Given the description of an element on the screen output the (x, y) to click on. 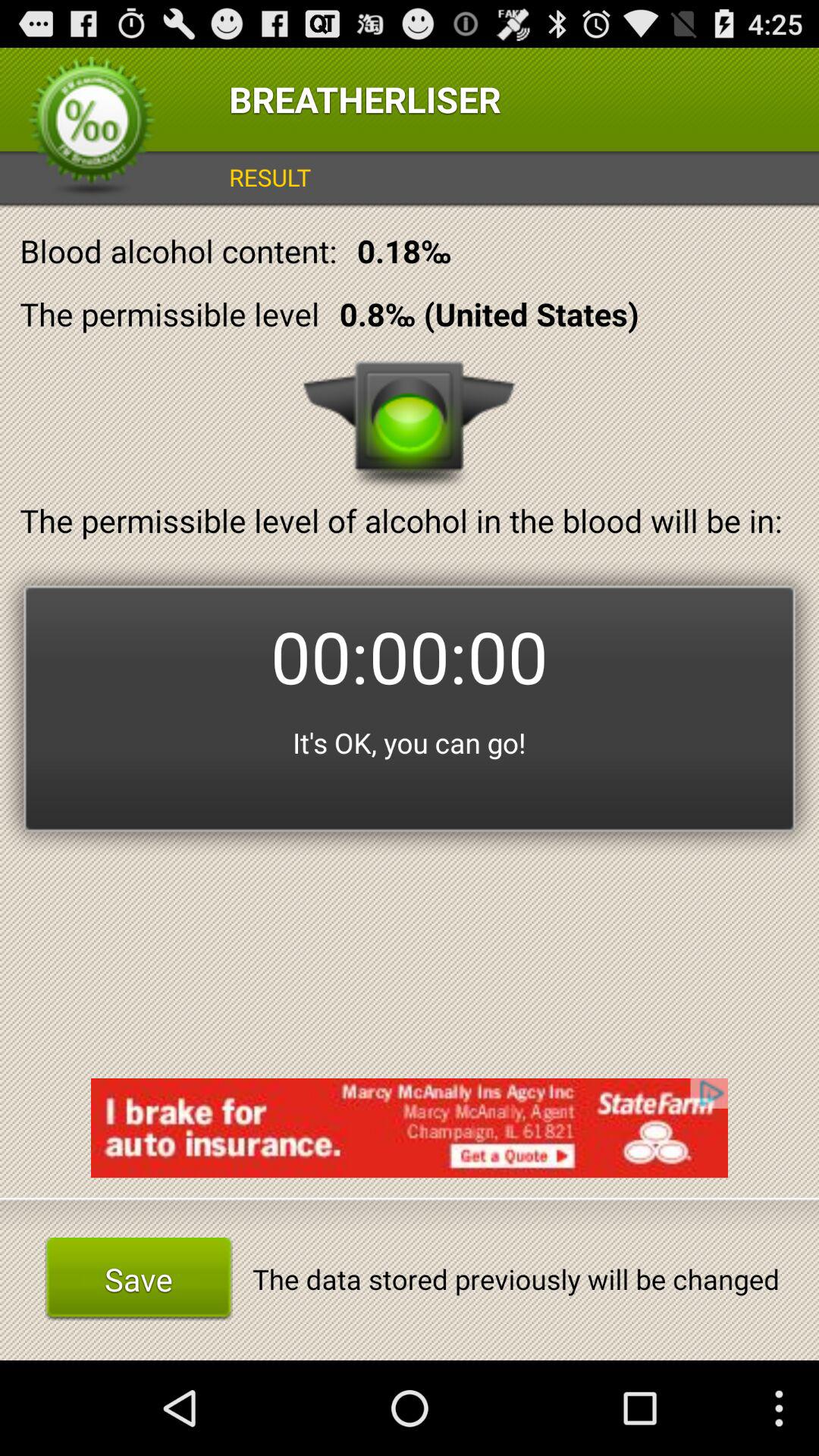
choose save icon (138, 1278)
